Given the description of an element on the screen output the (x, y) to click on. 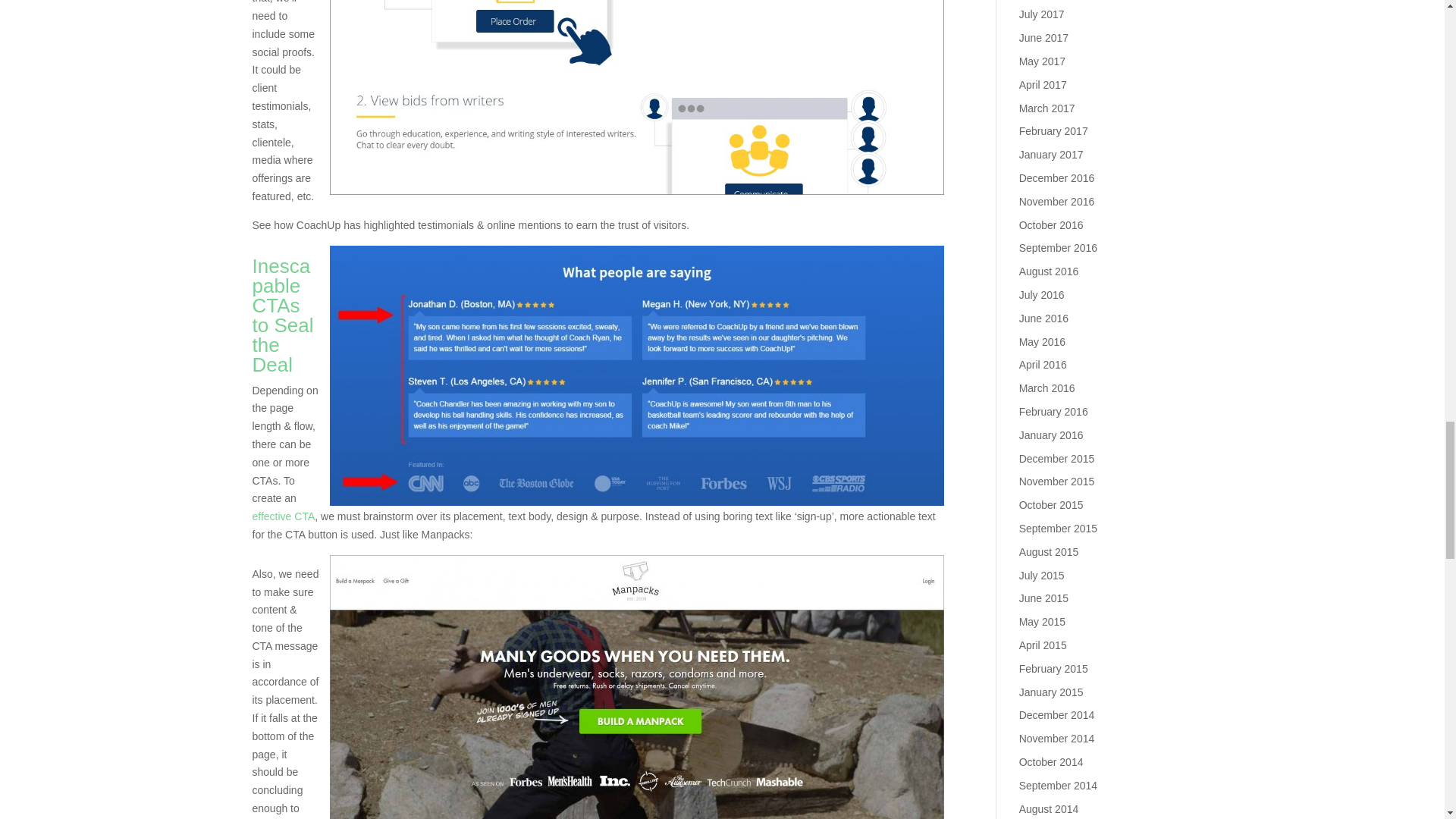
effective CTA (282, 516)
effective CTA (282, 516)
